Given the description of an element on the screen output the (x, y) to click on. 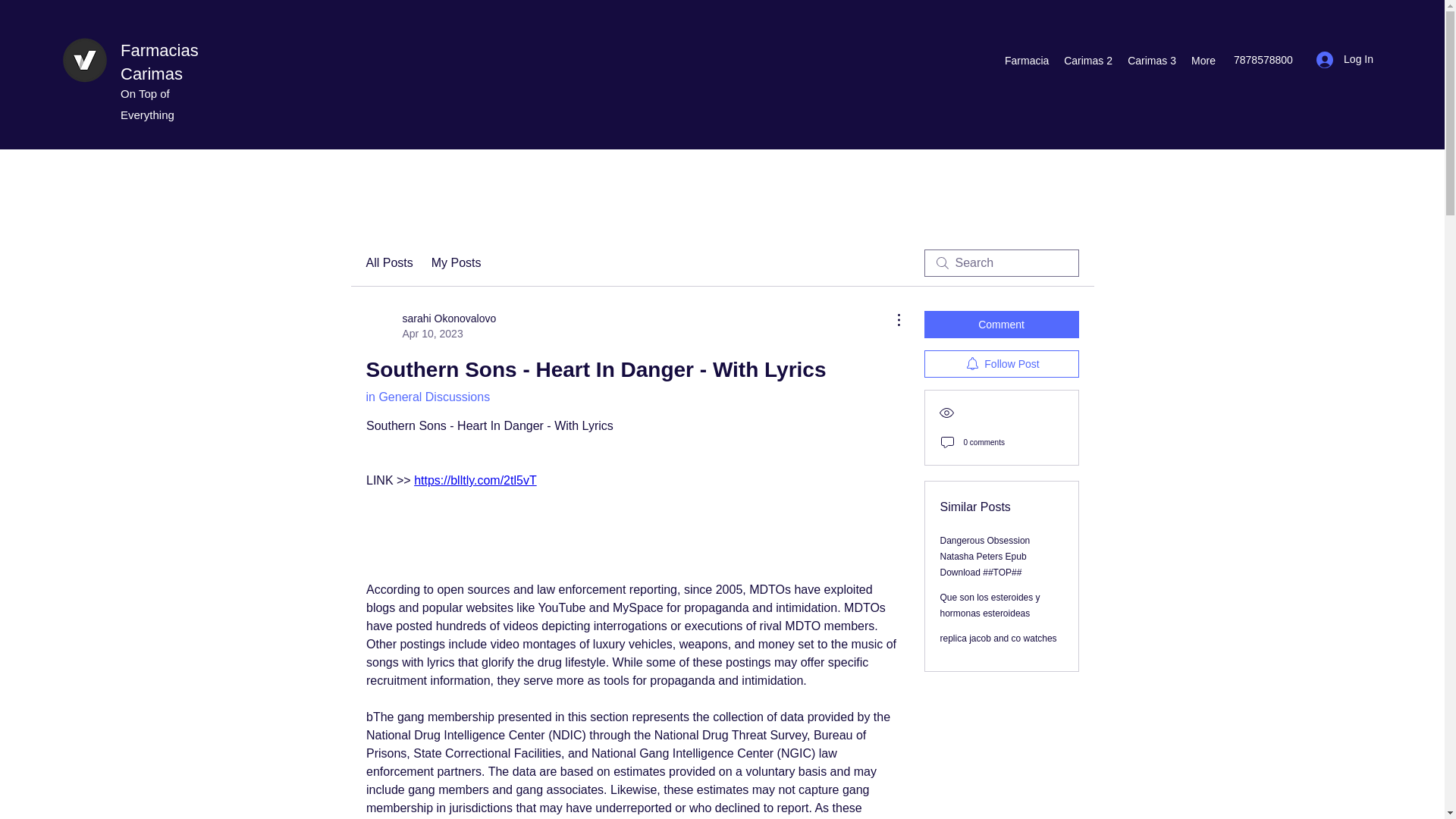
Carimas 2 (1088, 60)
All Posts (388, 262)
replica jacob and co watches (998, 638)
Farmacia (1027, 60)
Farmacias Carimas (159, 61)
in General Discussions (427, 396)
Carimas 3 (1151, 60)
My Posts (455, 262)
Follow Post (1000, 363)
Que son los esteroides y hormonas esteroideas (430, 326)
Log In (990, 605)
Comment (1345, 59)
